Given the description of an element on the screen output the (x, y) to click on. 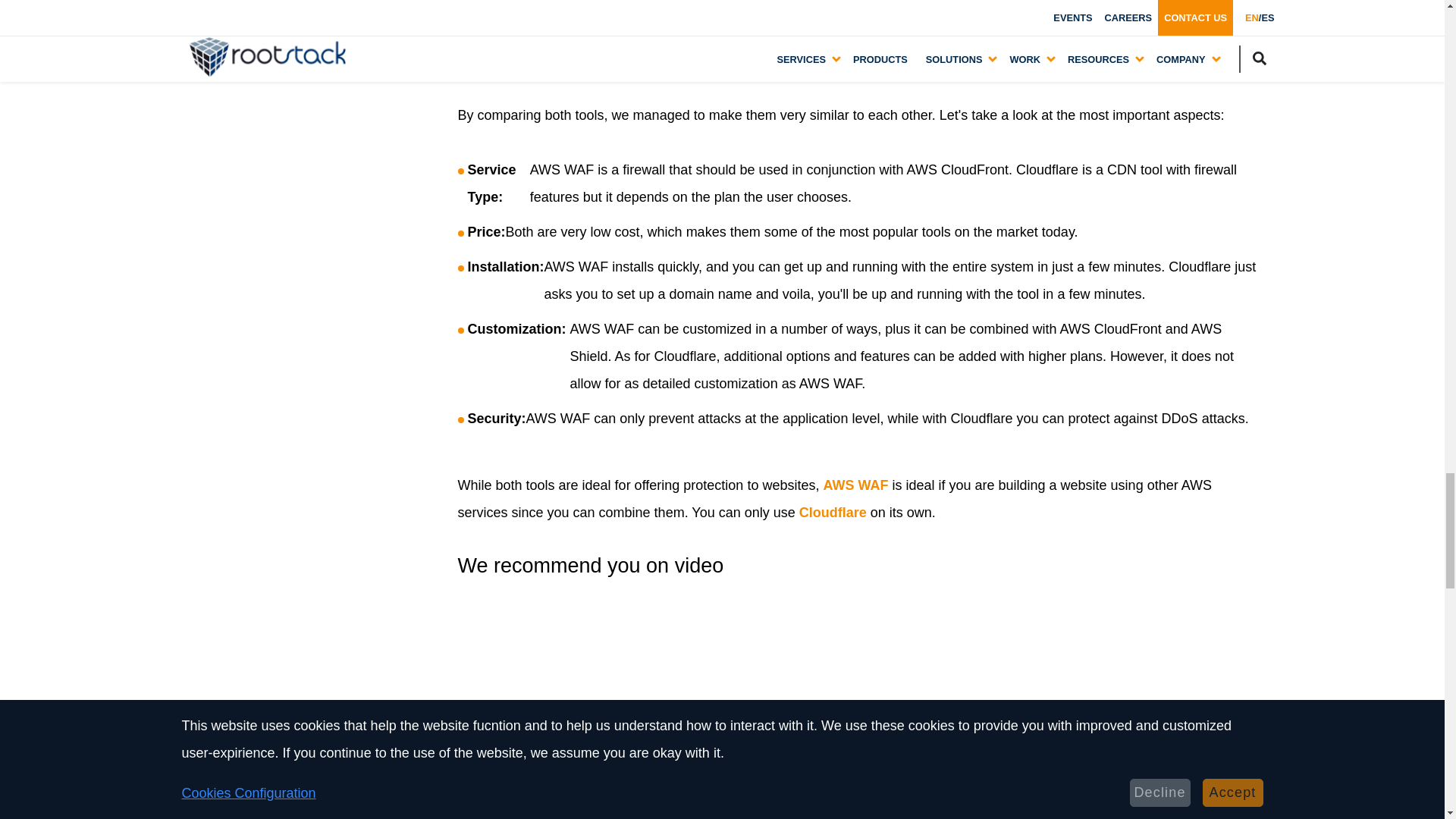
Cloudflare (832, 512)
AWS WAF (855, 485)
YouTube video player (670, 715)
